Given the description of an element on the screen output the (x, y) to click on. 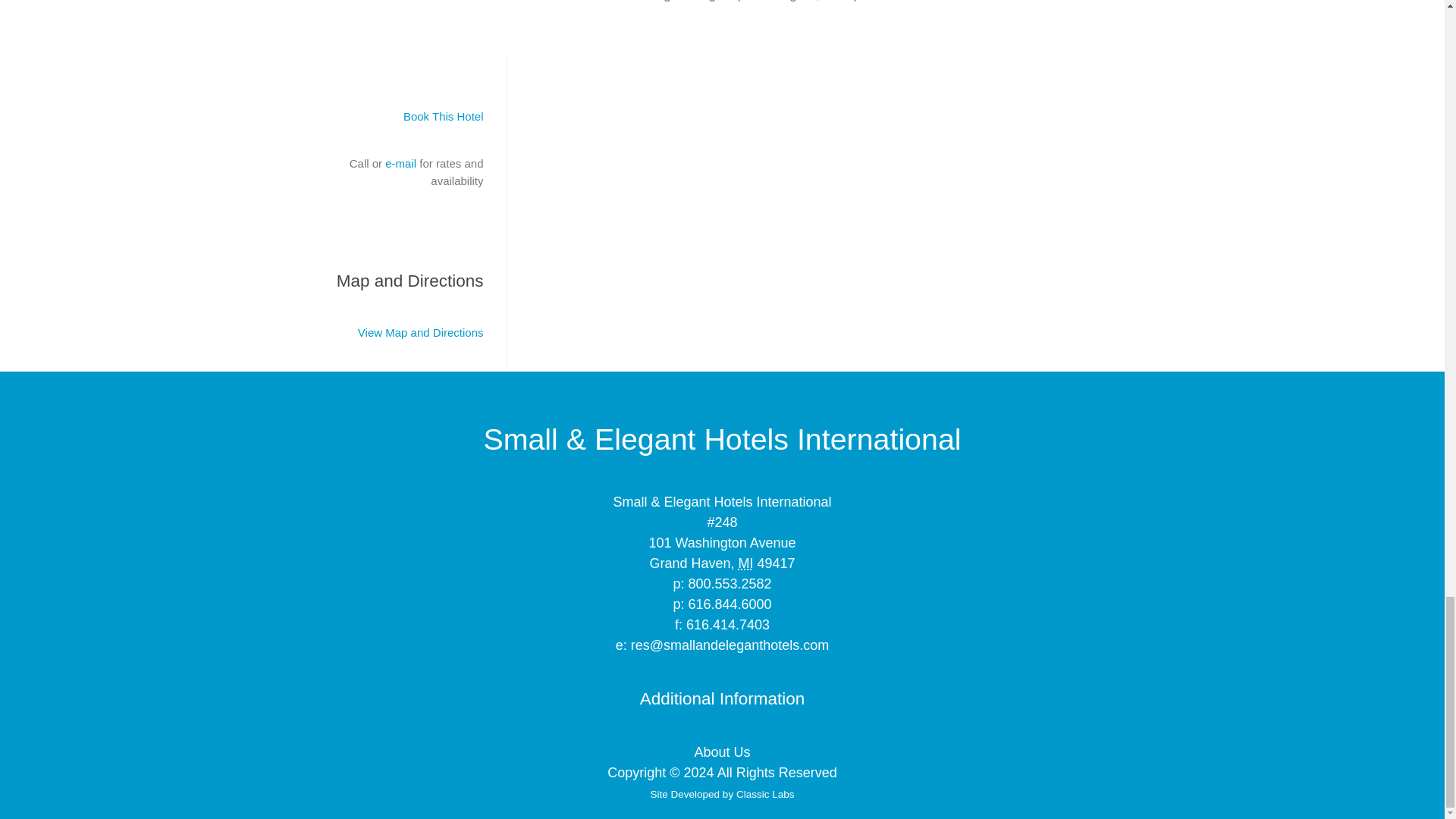
Michigan (746, 563)
Classic Labs (765, 794)
Classic Labs (765, 794)
Book This Hotel (443, 115)
e-mail (400, 163)
Return to Home Page (721, 438)
About Us (721, 752)
View Map and Directions (420, 332)
